Given the description of an element on the screen output the (x, y) to click on. 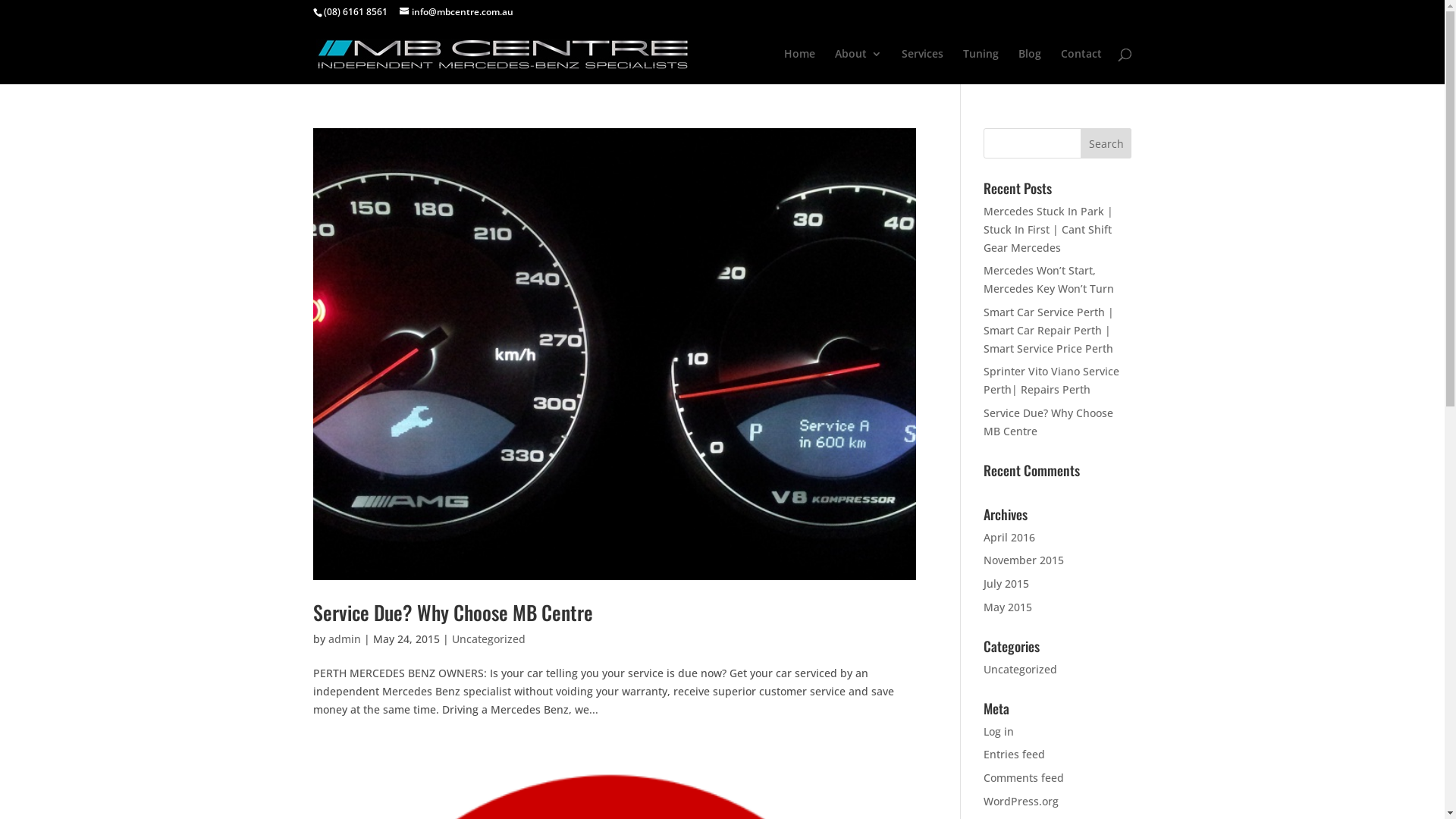
Search Element type: text (1106, 143)
Service Due? Why Choose MB Centre Element type: text (1048, 421)
Log in Element type: text (998, 731)
Tuning Element type: text (980, 66)
WordPress.org Element type: text (1020, 800)
Entries feed Element type: text (1013, 753)
Home Element type: text (799, 66)
April 2016 Element type: text (1009, 537)
Blog Element type: text (1028, 66)
July 2015 Element type: text (1006, 583)
November 2015 Element type: text (1023, 559)
Comments feed Element type: text (1023, 777)
May 2015 Element type: text (1007, 606)
admin Element type: text (343, 638)
Uncategorized Element type: text (1020, 669)
Sprinter Vito Viano Service Perth| Repairs Perth Element type: text (1051, 380)
Uncategorized Element type: text (488, 638)
Service Due? Why Choose MB Centre Element type: text (452, 612)
Services Element type: text (921, 66)
Contact Element type: text (1080, 66)
info@mbcentre.com.au Element type: text (455, 11)
About Element type: text (857, 66)
